Given the description of an element on the screen output the (x, y) to click on. 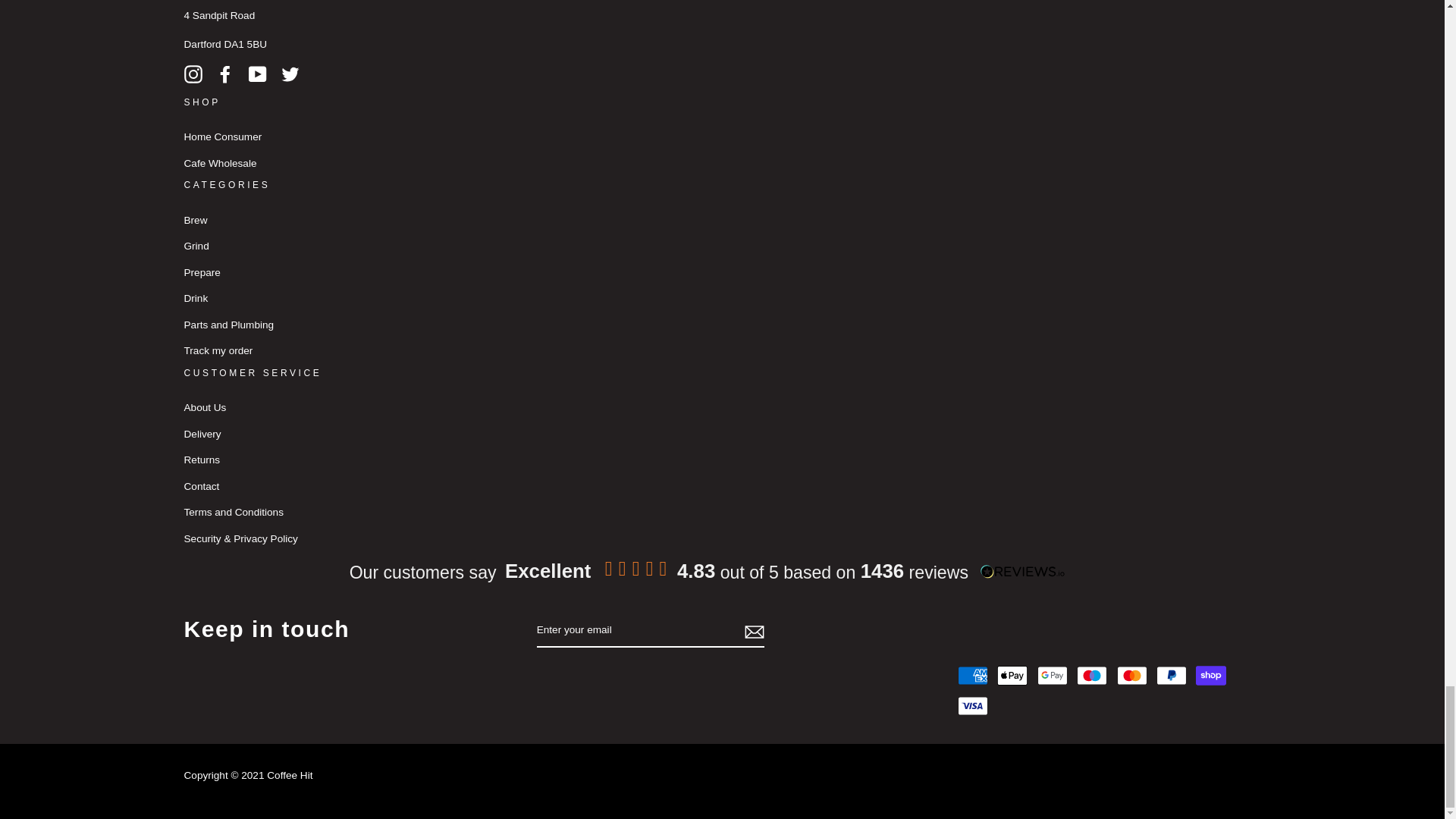
Apple Pay (1012, 675)
Reviews Widget (698, 568)
American Express (973, 675)
Mastercard (1131, 675)
Coffee Hit Trade on Instagram (192, 74)
Coffee Hit Trade on YouTube (257, 74)
Shop Pay (1210, 675)
Google Pay (1051, 675)
Maestro (1091, 675)
PayPal (1171, 675)
Visa (973, 706)
Coffee Hit Trade on Facebook (224, 74)
Coffee Hit Trade on Twitter (290, 74)
